Given the description of an element on the screen output the (x, y) to click on. 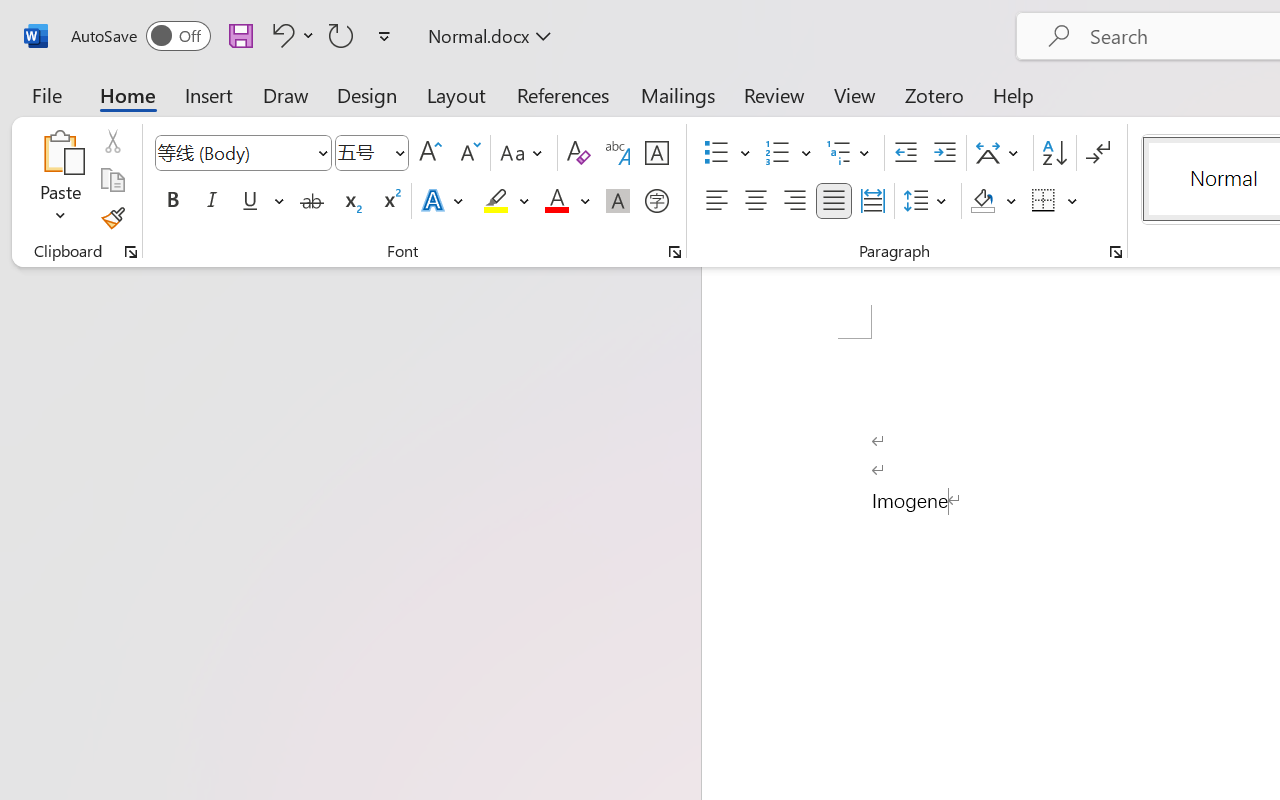
Font Color RGB(255, 0, 0) (556, 201)
